Given the description of an element on the screen output the (x, y) to click on. 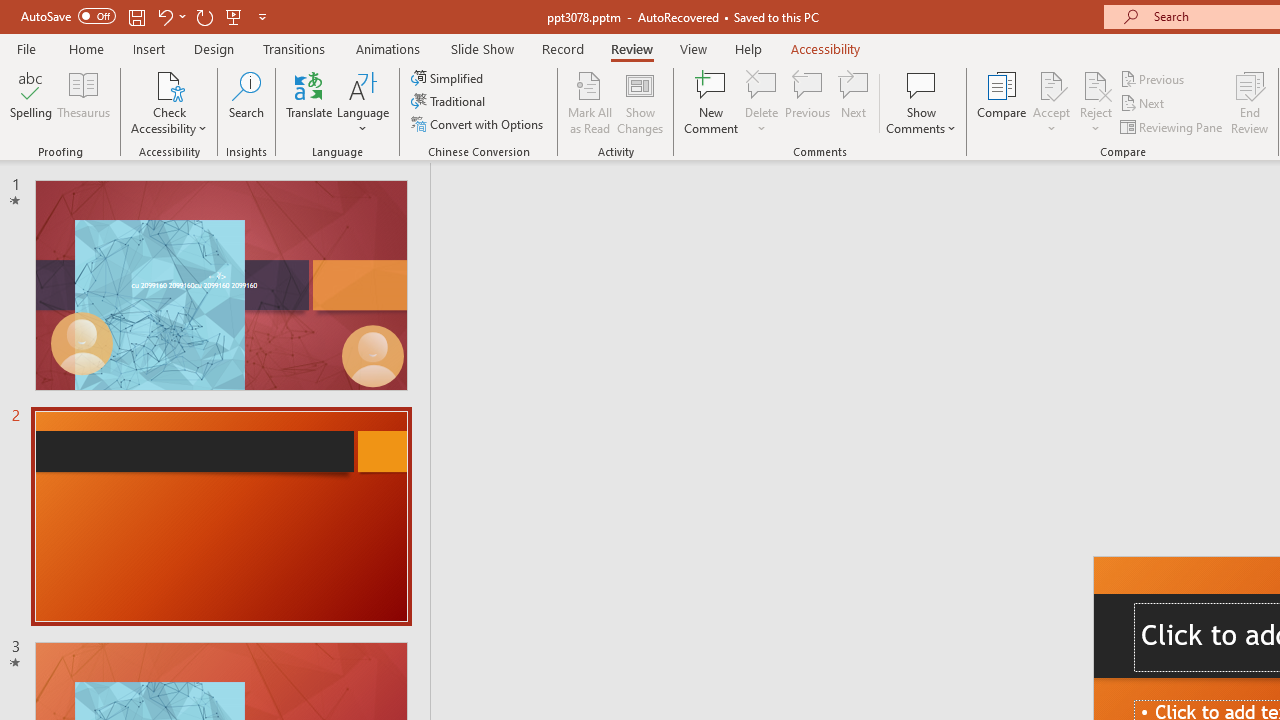
Reviewing Pane (1172, 126)
End Review (1249, 102)
Mark All as Read (589, 102)
Compare (1002, 102)
